Given the description of an element on the screen output the (x, y) to click on. 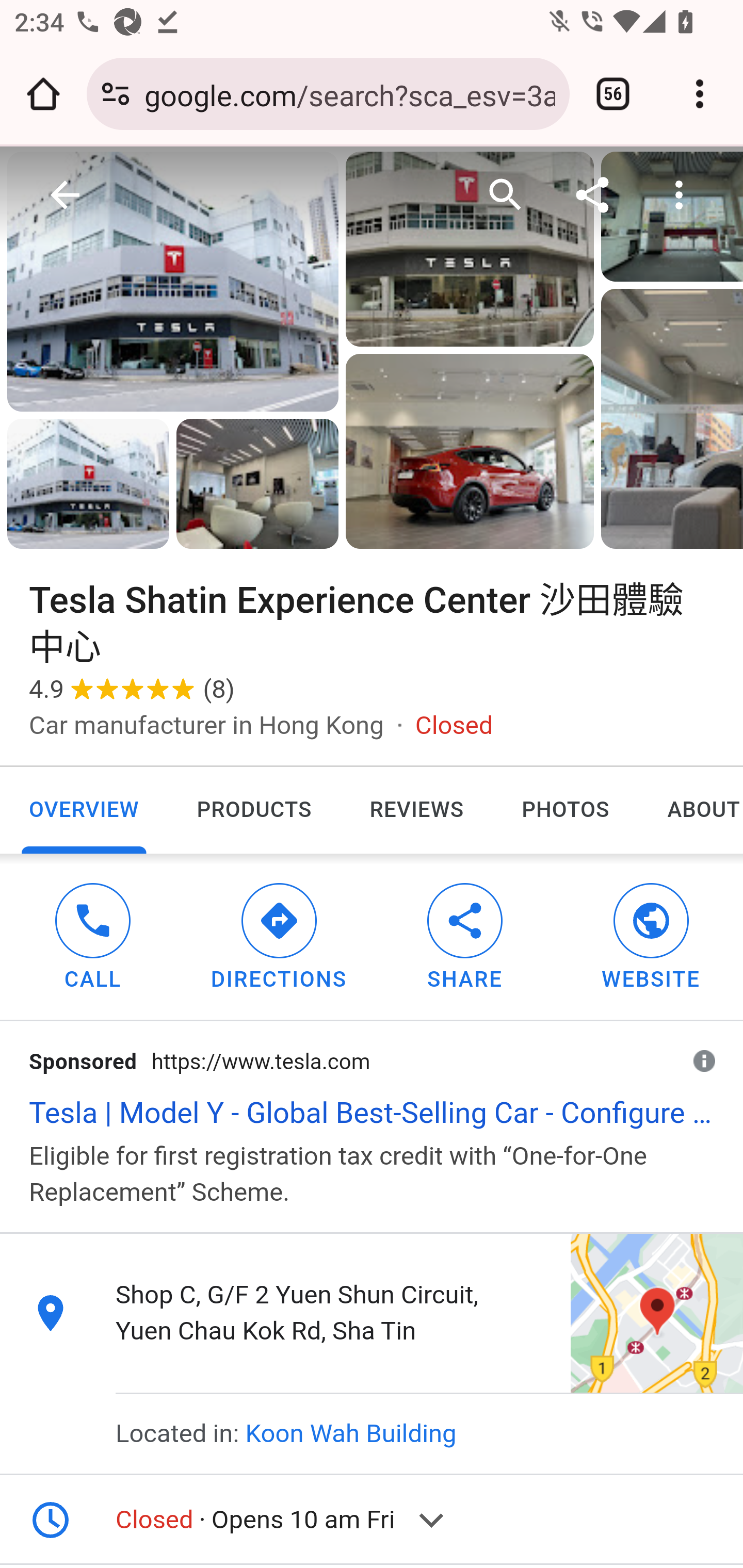
Open the home page (43, 93)
Connection is secure (115, 93)
Switch or close tabs (612, 93)
Customize and control Google Chrome (699, 93)
Photo of Tesla Shatin Experience Center 沙田體驗中心 (173, 281)
Back (65, 195)
Photo of Tesla Shatin Experience Center 沙田體驗中心 (468, 250)
Search nearby (505, 195)
Share (593, 195)
More options (679, 195)
Photo of Tesla Shatin Experience Center 沙田體驗中心 (468, 452)
Photo of Tesla Shatin Experience Center 沙田體驗中心 (88, 484)
Photo of Tesla Shatin Experience Center 沙田體驗中心 (256, 484)
OVERVIEW (84, 808)
PRODUCTS (253, 808)
REVIEWS (416, 808)
PHOTOS (564, 808)
ABOUT (690, 808)
